Given the description of an element on the screen output the (x, y) to click on. 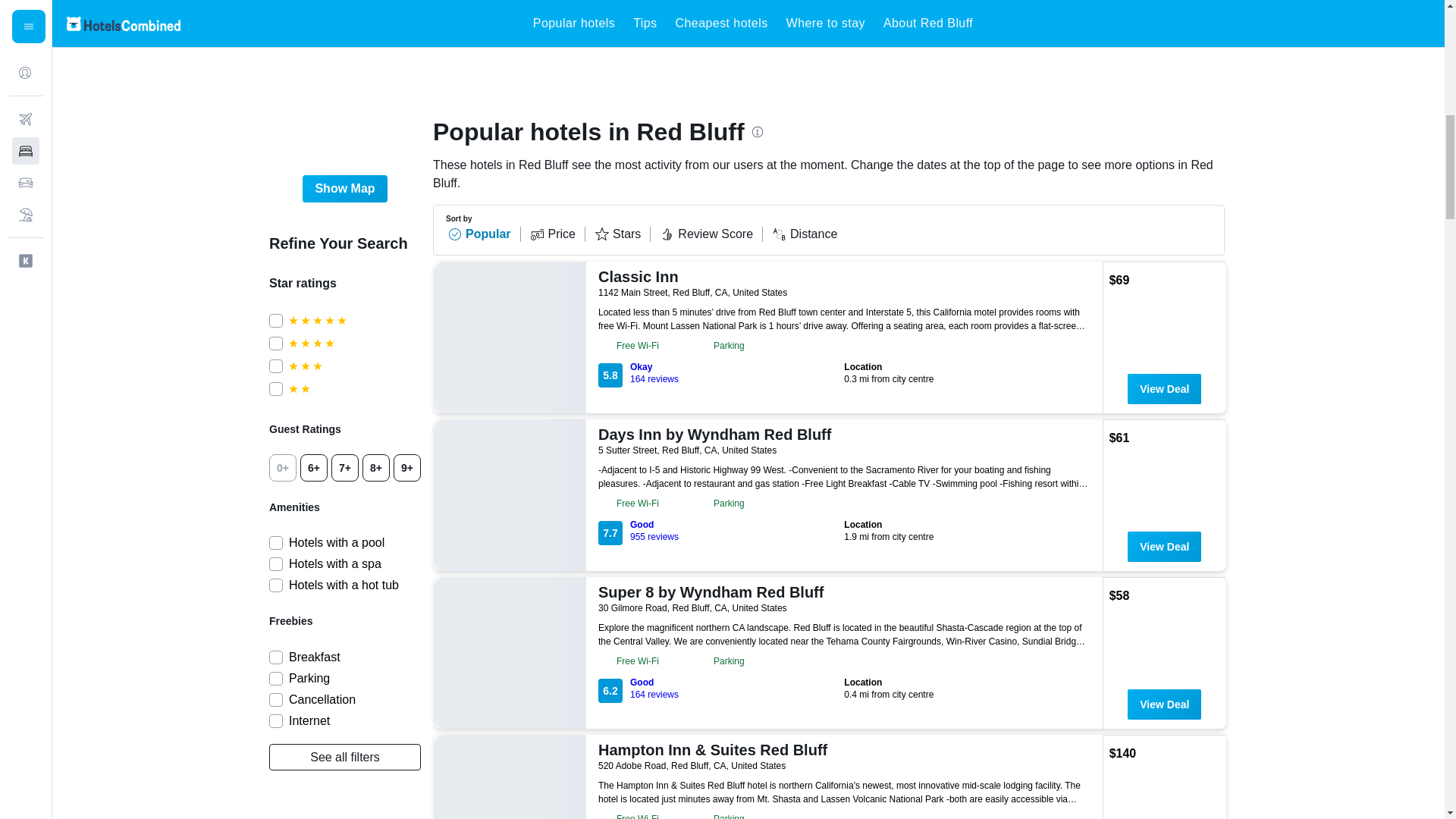
United States Hotels (445, 22)
Stars (622, 233)
See all filters (344, 757)
3 stars (354, 366)
2 stars (354, 388)
5 stars (354, 320)
Distance (804, 233)
Classic Inn (842, 276)
Review Score (710, 233)
4 stars (354, 343)
